Given the description of an element on the screen output the (x, y) to click on. 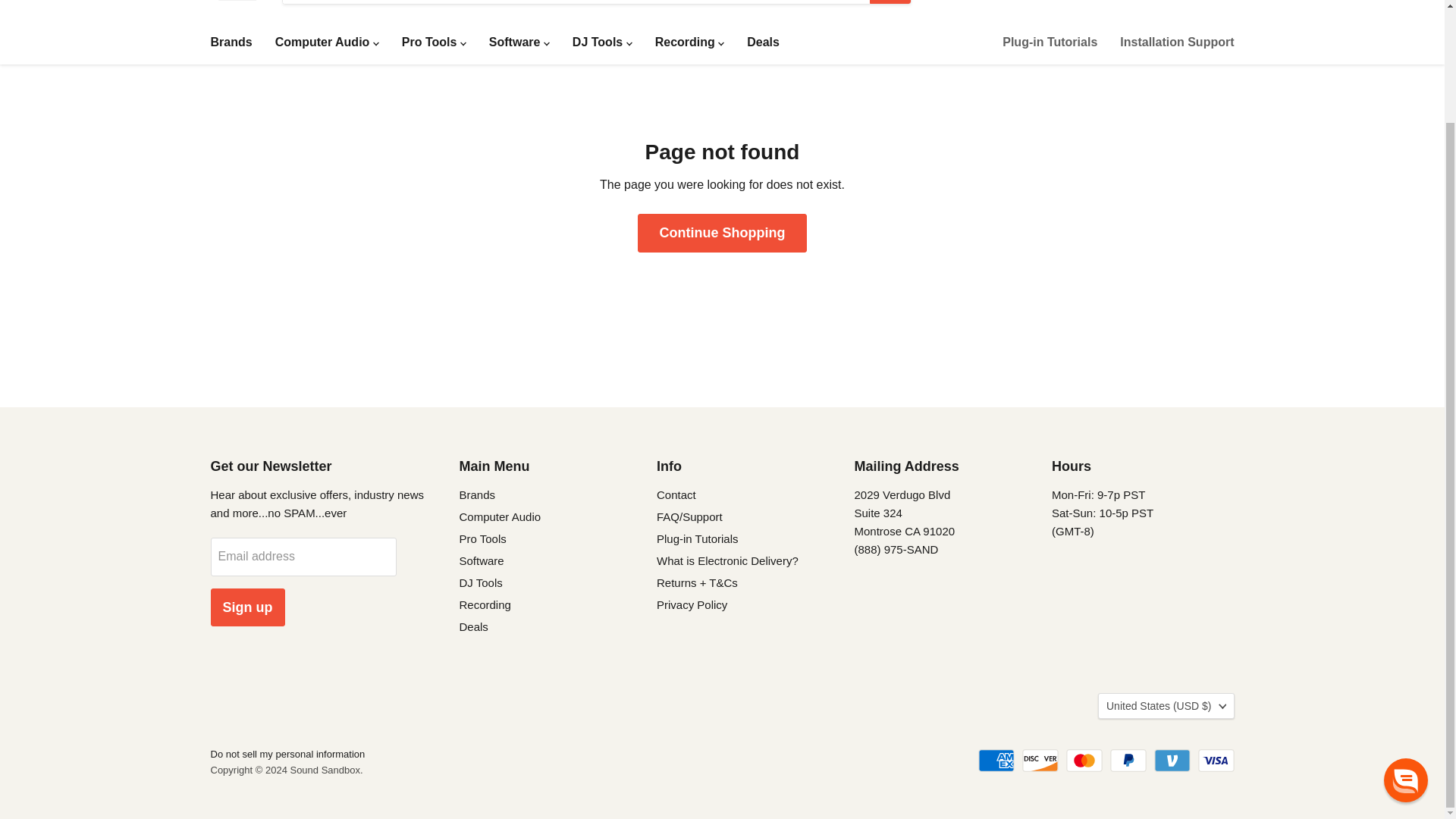
Brands (230, 41)
Discover (1040, 760)
American Express (996, 760)
Venmo (1172, 760)
View cart (1221, 1)
Mastercard (1083, 760)
Visa (1216, 760)
PayPal (1128, 760)
